Given the description of an element on the screen output the (x, y) to click on. 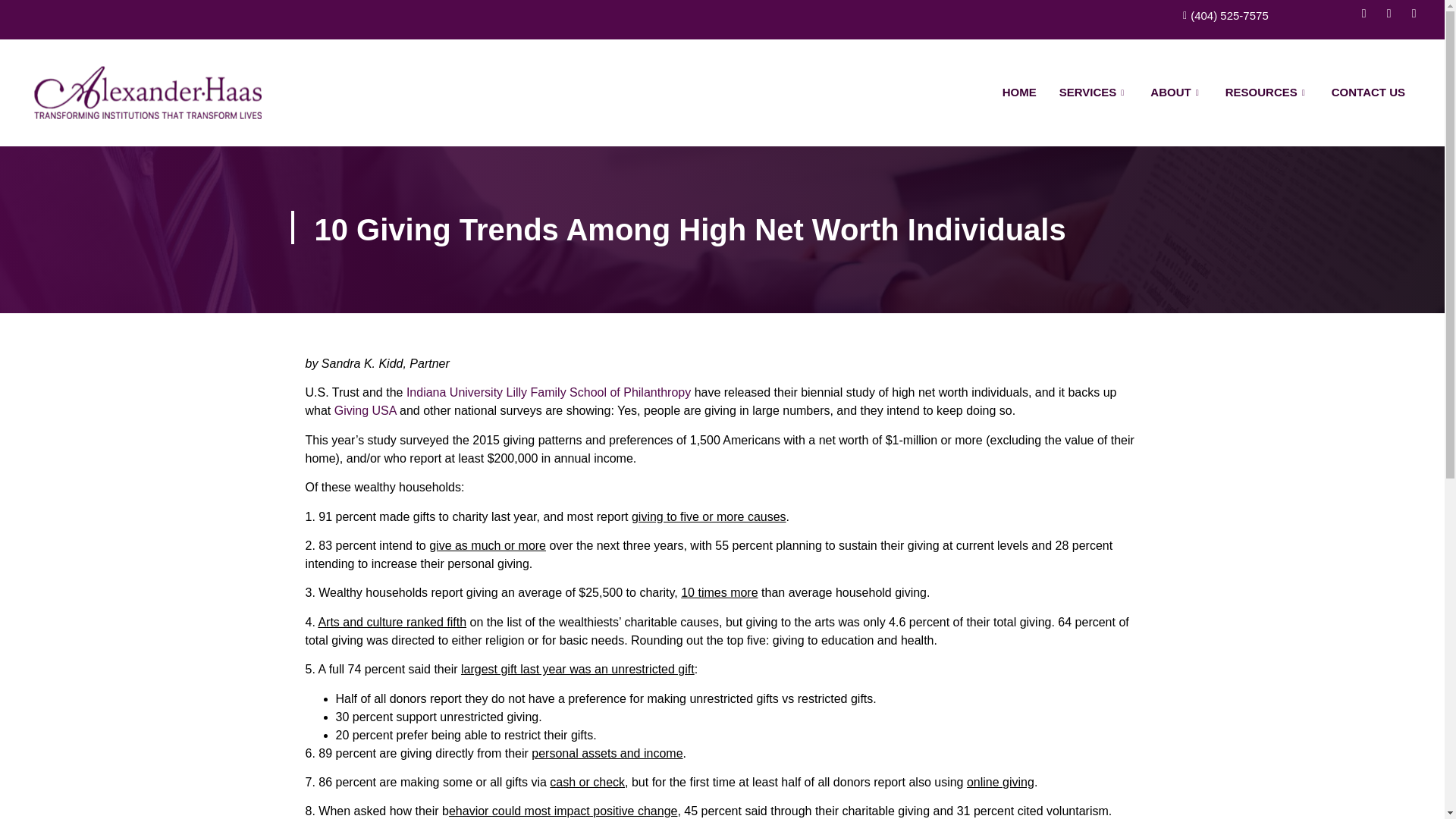
RESOURCES (1267, 92)
CONTACT US (1368, 92)
ABOUT (1175, 92)
Giving USA (365, 410)
HOME (1019, 92)
SERVICES (1094, 92)
Indiana University Lilly Family School of Philanthropy (548, 391)
